Given the description of an element on the screen output the (x, y) to click on. 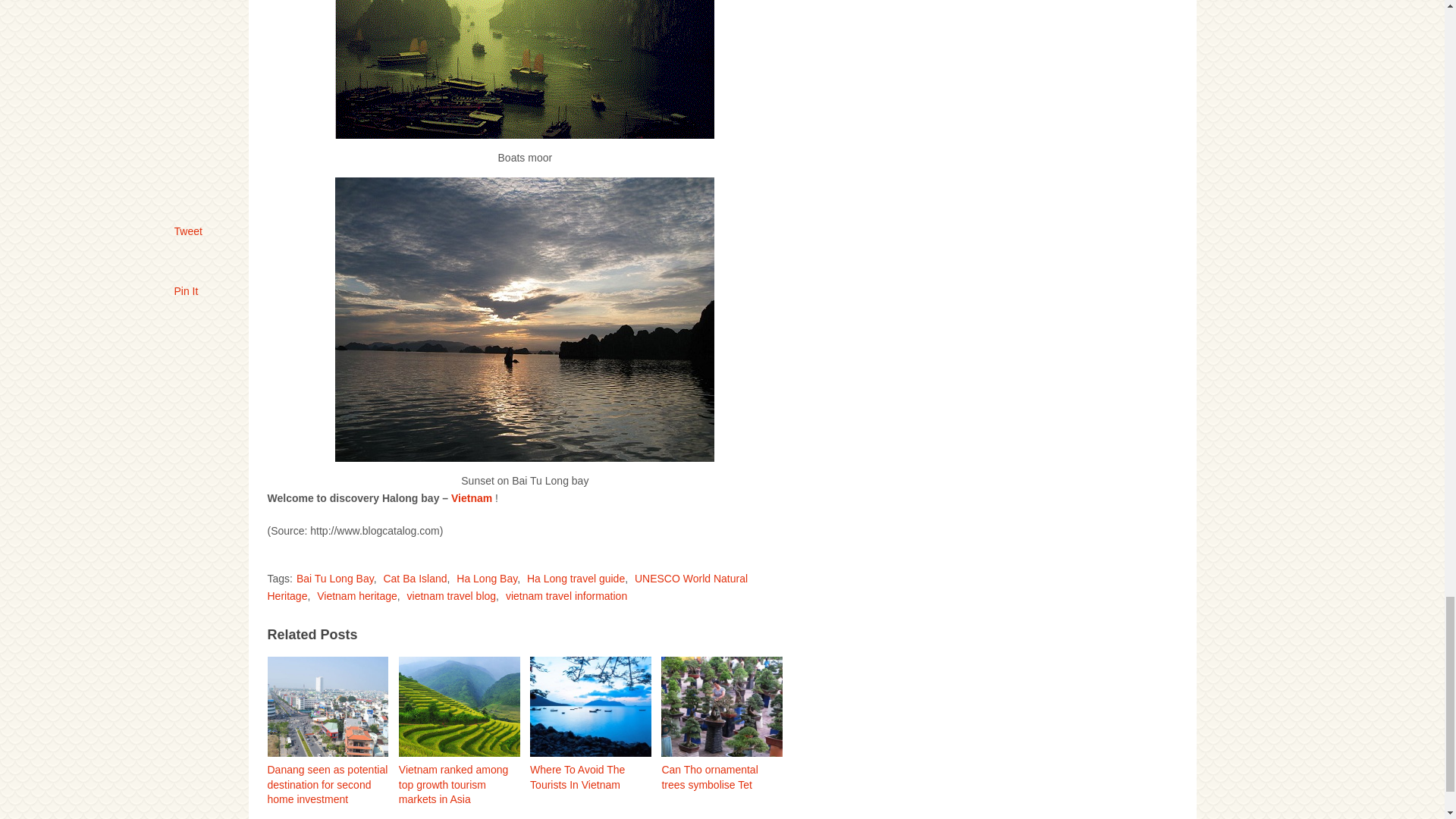
Vietnam (471, 498)
